Given the description of an element on the screen output the (x, y) to click on. 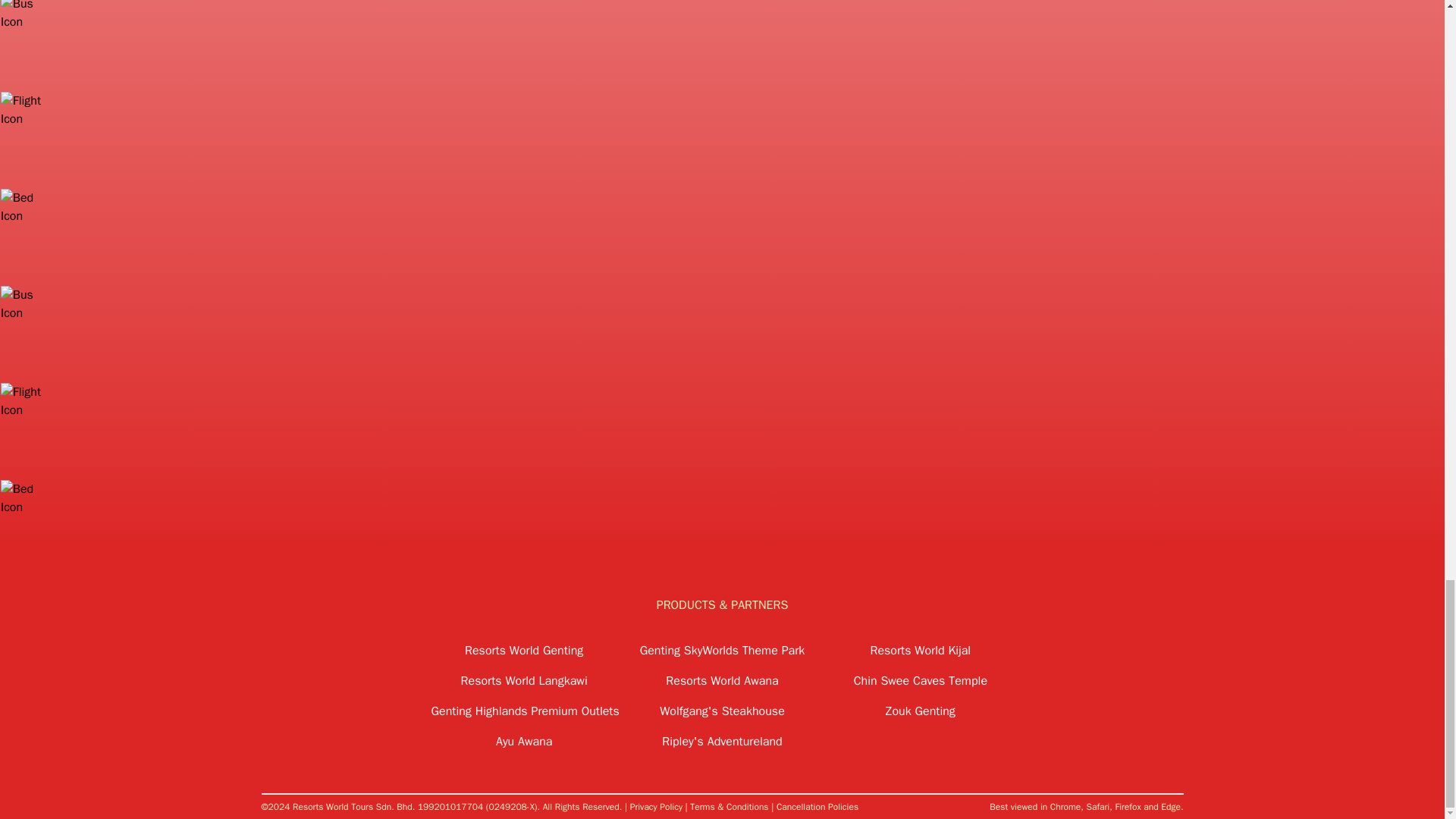
Resorts World Genting (522, 650)
Genting SkyWorlds Theme Park (721, 650)
Resorts World Langkawi (522, 680)
Genting Highlands Premium Outlets (522, 710)
Zouk Genting (920, 710)
Wolfgang's Steakhouse (721, 710)
Resorts World Kijal (920, 650)
Ayu Awana (522, 741)
Ripley's Adventureland (721, 741)
Chin Swee Caves Temple (920, 680)
Resorts World Awana (721, 680)
